Given the description of an element on the screen output the (x, y) to click on. 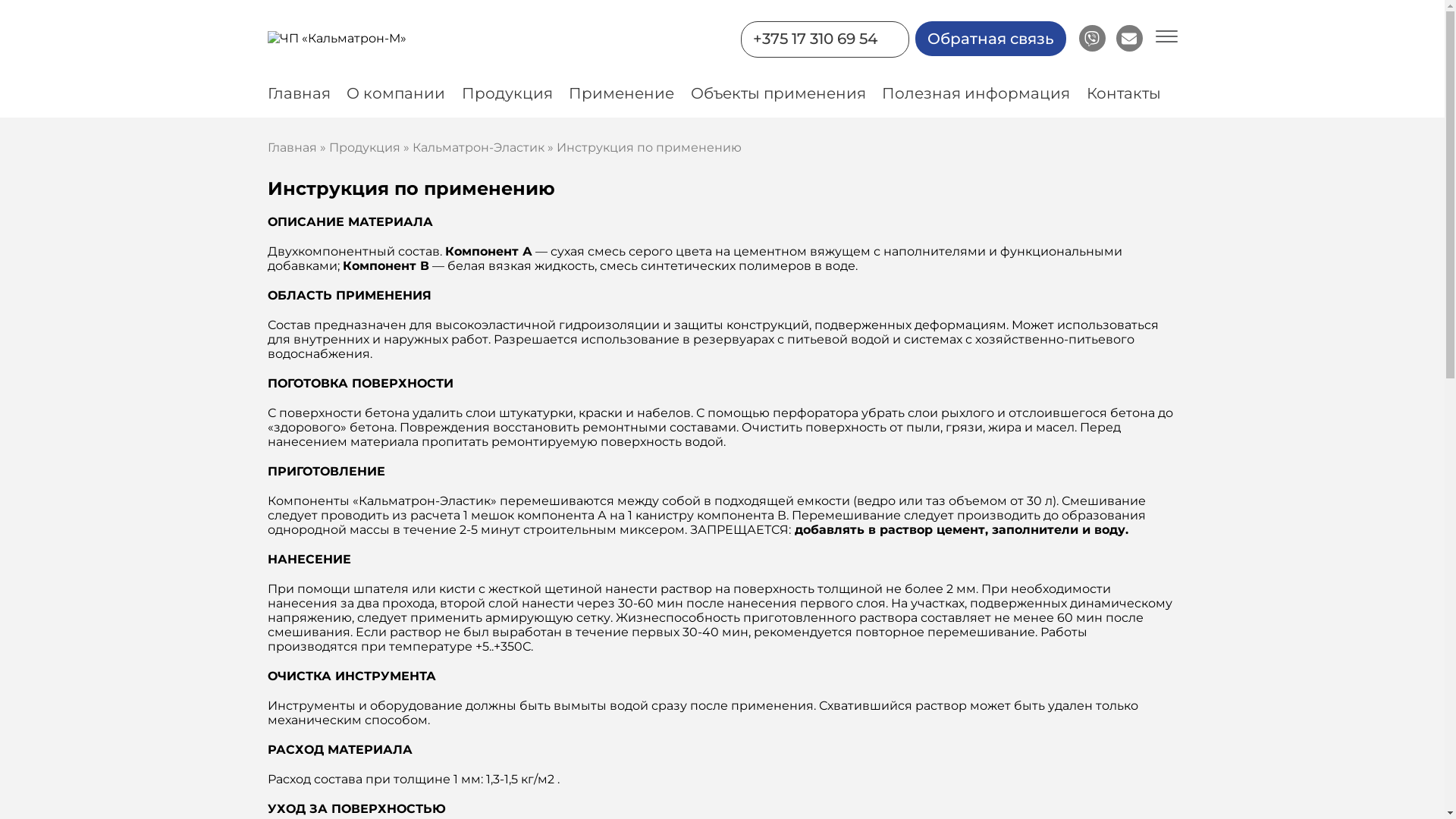
+375 17 310 69 54 Element type: text (814, 37)
